Given the description of an element on the screen output the (x, y) to click on. 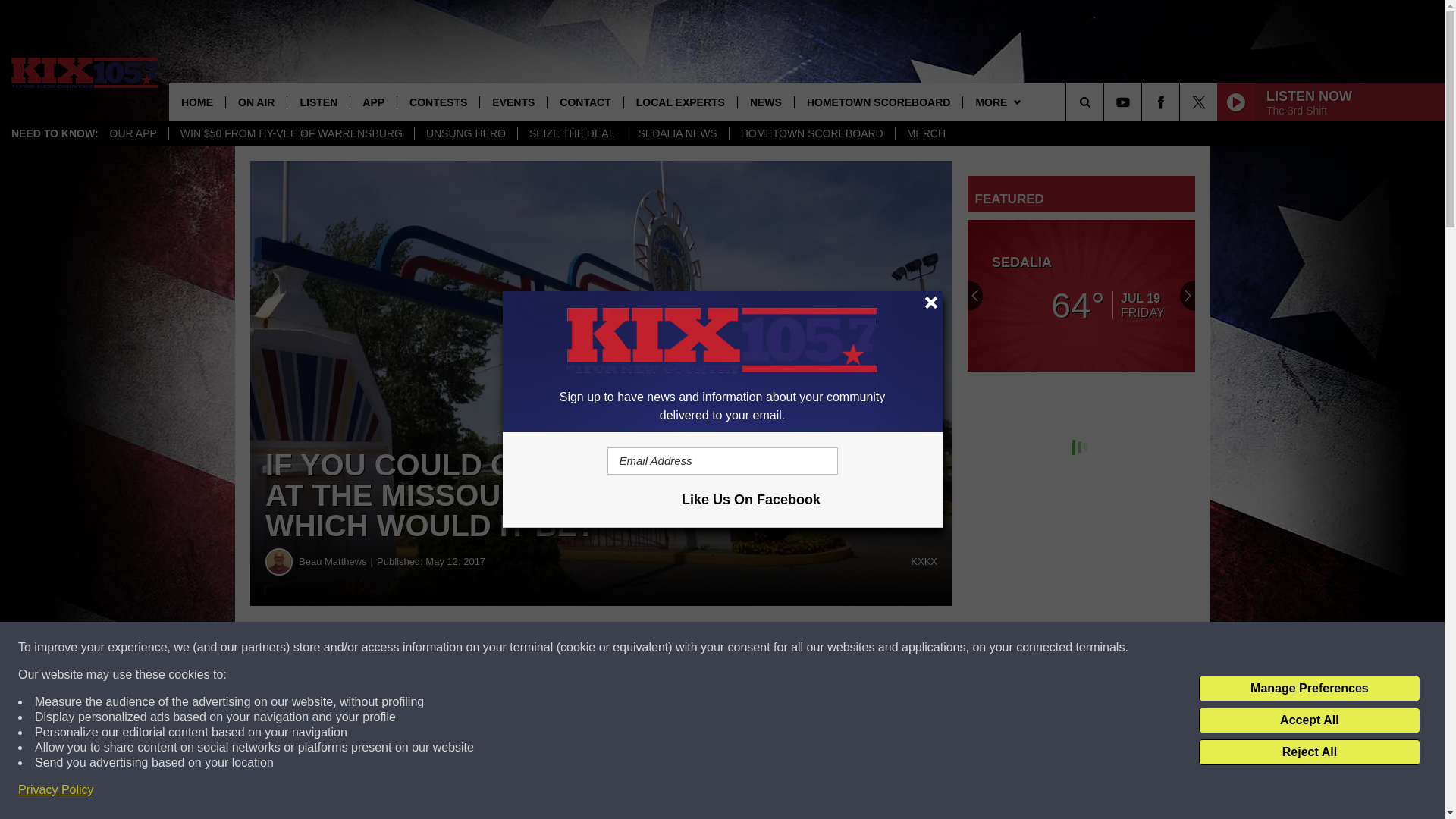
SEDALIA NEWS (677, 133)
CONTESTS (437, 102)
SEIZE THE DEAL (571, 133)
HOMETOWN SCOREBOARD (812, 133)
SEARCH (1106, 102)
Share on Twitter (741, 647)
MERCH (925, 133)
Accept All (1309, 720)
Email Address (722, 461)
SEARCH (1106, 102)
OUR APP (133, 133)
ON AIR (255, 102)
Privacy Policy (55, 789)
Sedalia Weather (1081, 295)
Reject All (1309, 751)
